Given the description of an element on the screen output the (x, y) to click on. 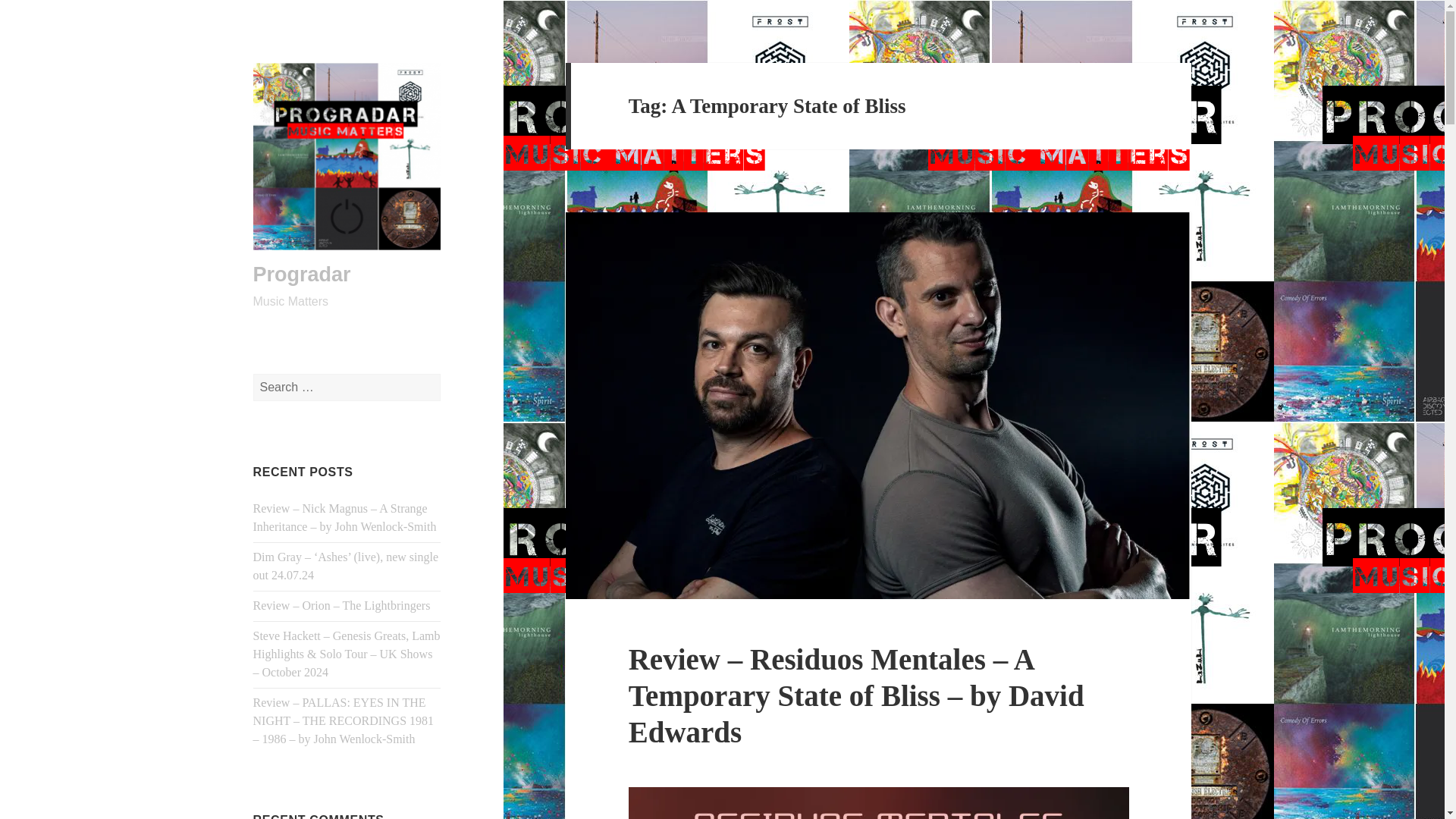
Progradar (301, 273)
